Given the description of an element on the screen output the (x, y) to click on. 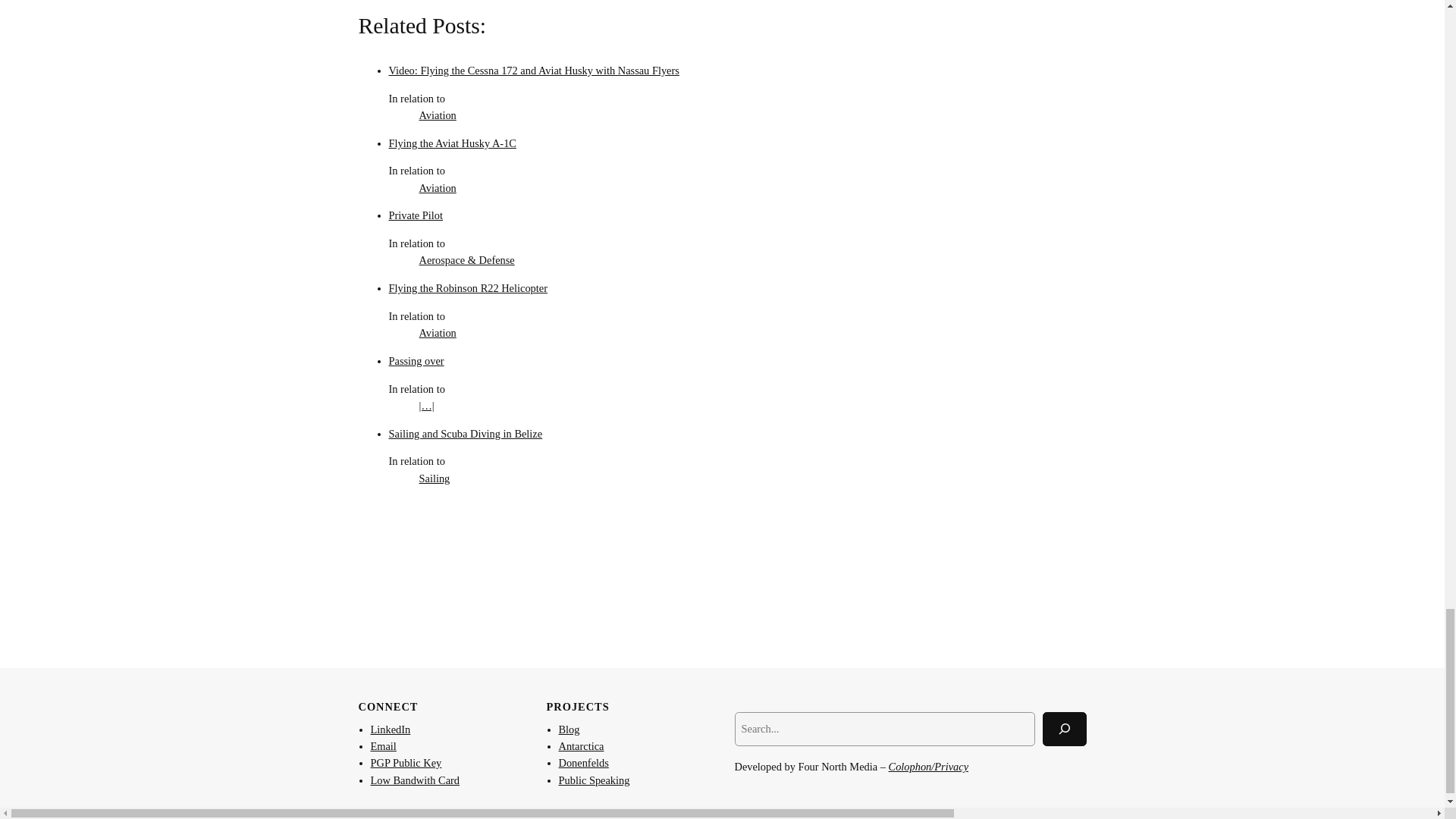
Private Pilot (415, 215)
Low Bandwith Card (414, 779)
Aviation (437, 187)
LinkedIn (389, 729)
PGP Public Key (405, 762)
Aviation (437, 114)
Flying the Robinson R22 Helicopter (467, 287)
Aviation (437, 332)
Email (382, 746)
